Given the description of an element on the screen output the (x, y) to click on. 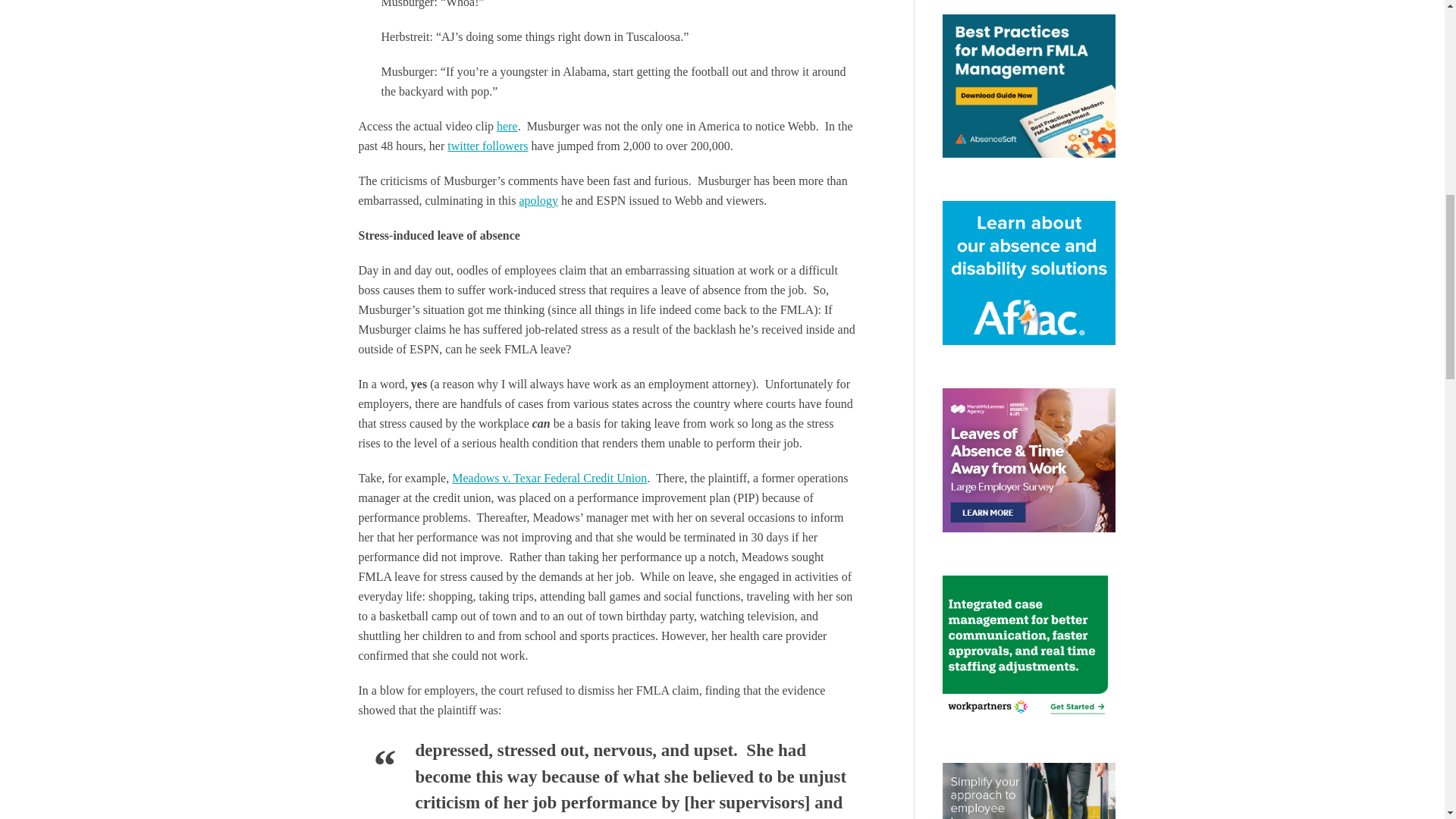
twitter followers (486, 145)
here (507, 125)
Meadows v. Texar Federal Credit Union (548, 477)
apology (537, 200)
